Given the description of an element on the screen output the (x, y) to click on. 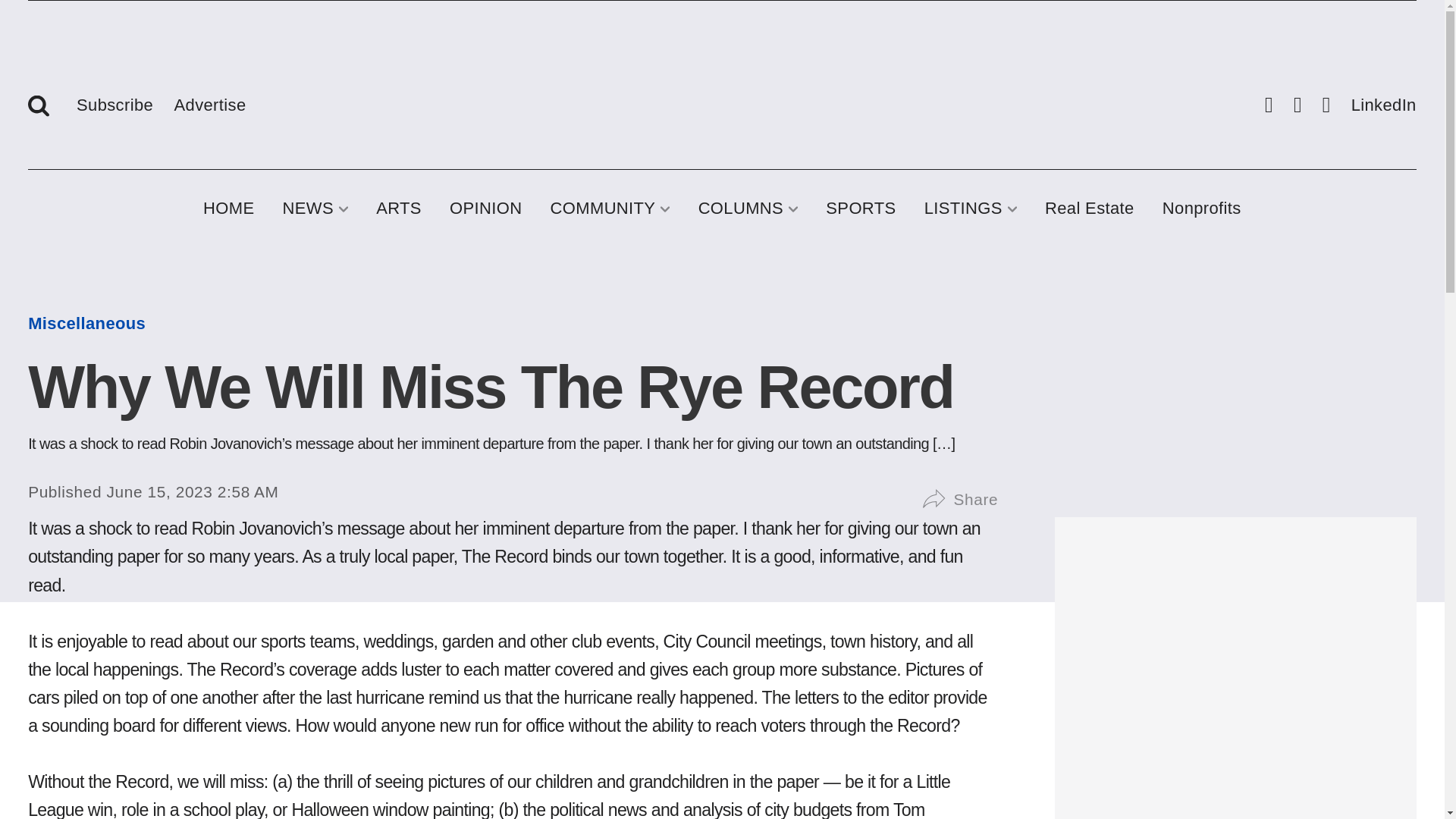
Subscribe (114, 101)
Advertise (210, 101)
